Given the description of an element on the screen output the (x, y) to click on. 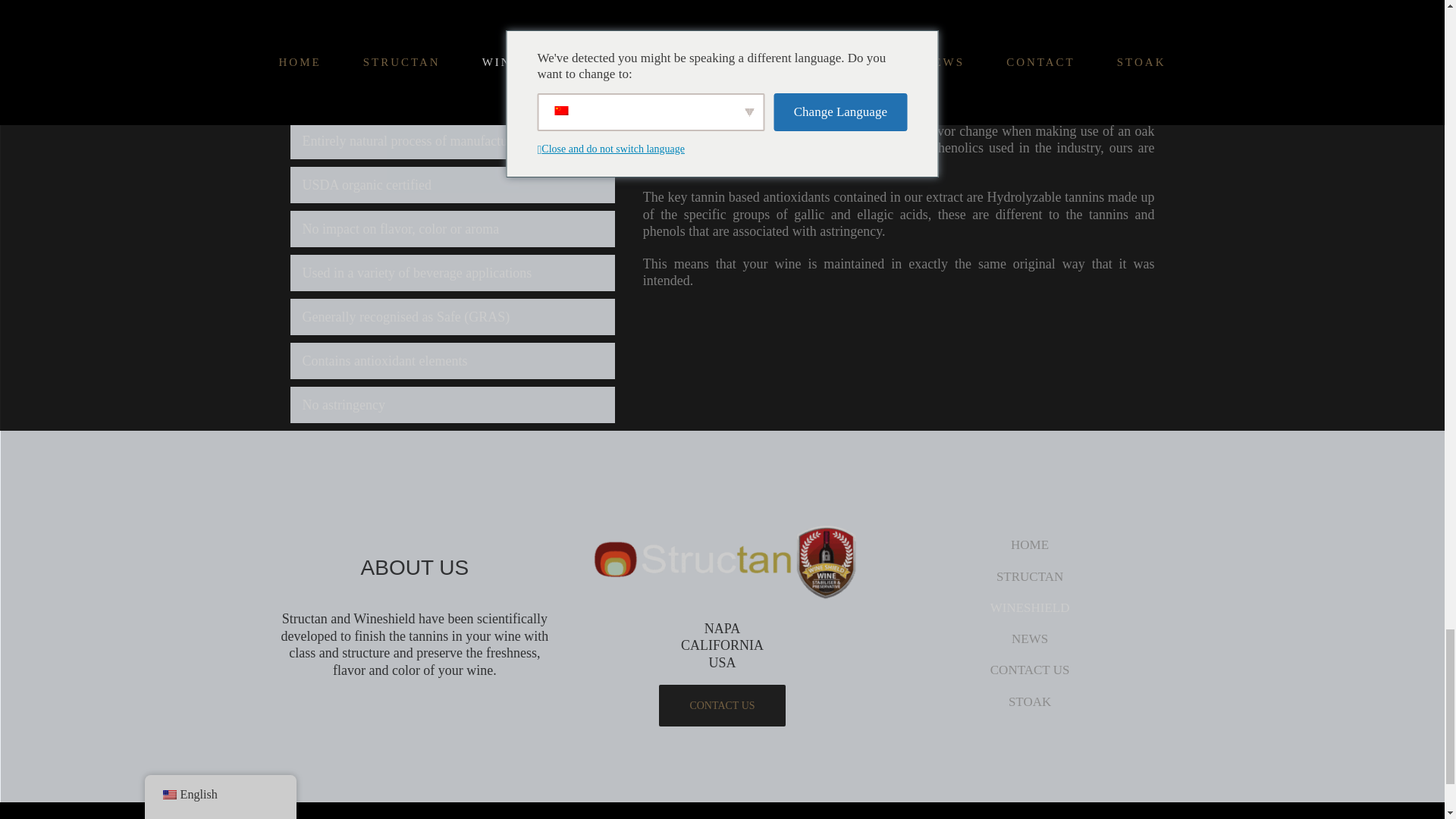
Wineshield-Wine-dosing-process-white-background (895, 27)
CONTACT US (1029, 669)
NEWS (1029, 638)
STOAK (1029, 701)
WINESHIELD (1029, 607)
CONTACT US (721, 705)
HOME (1029, 544)
Structan-web-logoLRG (722, 563)
STRUCTAN (1029, 576)
